Given the description of an element on the screen output the (x, y) to click on. 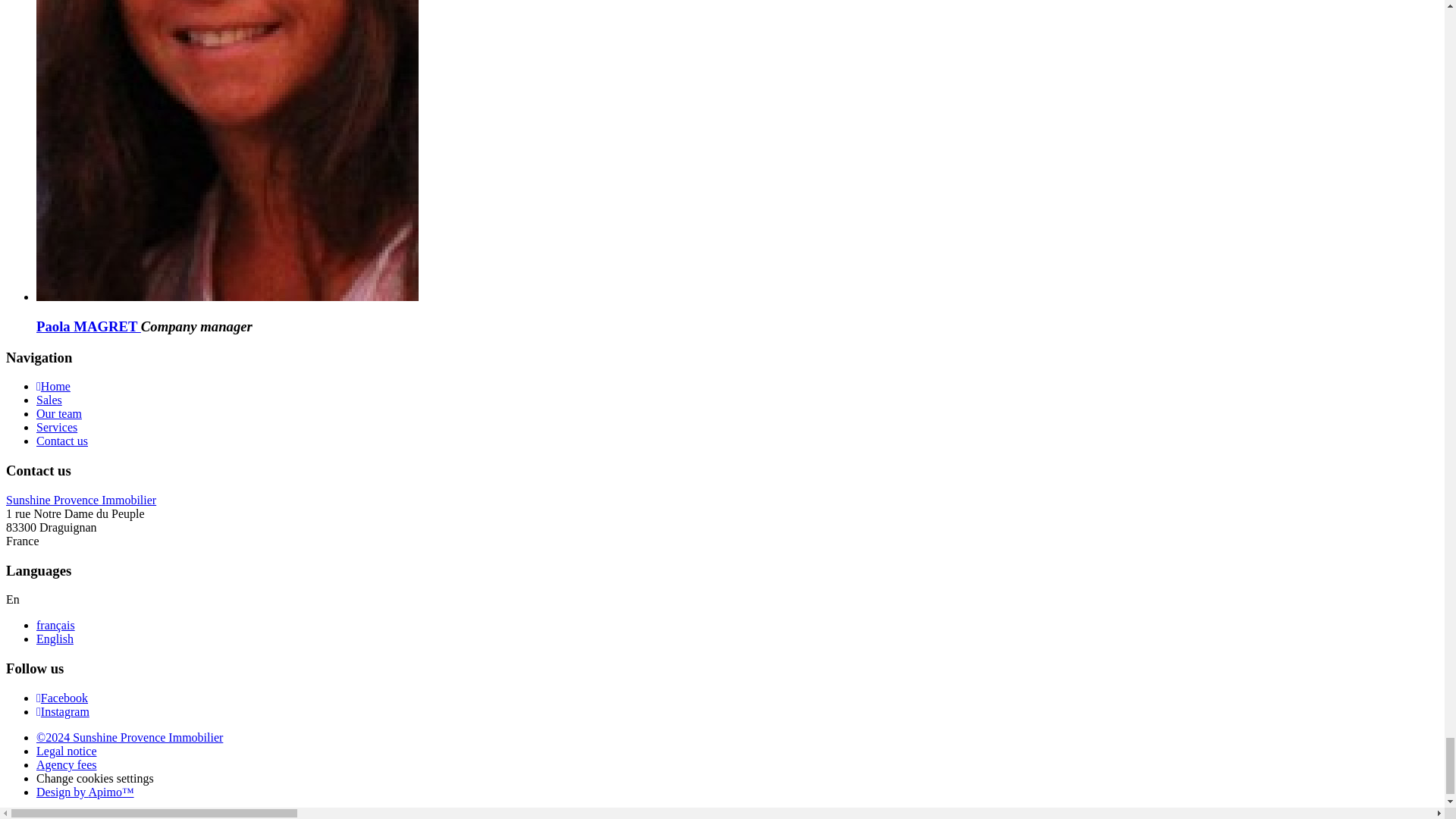
Sunshine Provence Immobilier (80, 499)
Instagram (62, 711)
Sales (49, 399)
Home (52, 386)
Paola MAGRET (88, 326)
Facebook (61, 697)
Legal notice (66, 750)
Our team (58, 413)
Services (56, 427)
Change cookies settings (95, 778)
Contact us (61, 440)
English (55, 638)
Agency fees (66, 764)
